Given the description of an element on the screen output the (x, y) to click on. 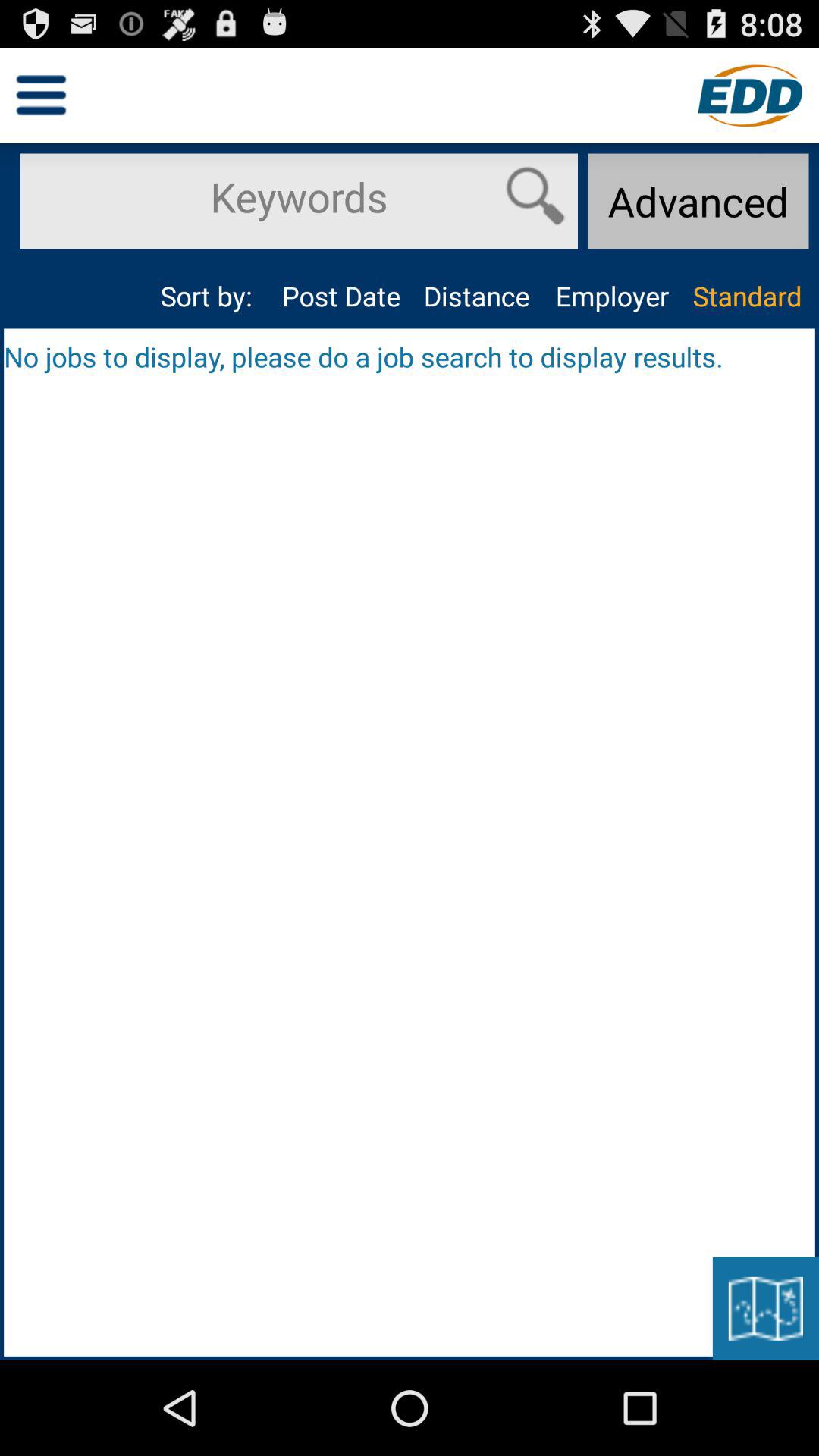
open the no jobs to icon (409, 356)
